Given the description of an element on the screen output the (x, y) to click on. 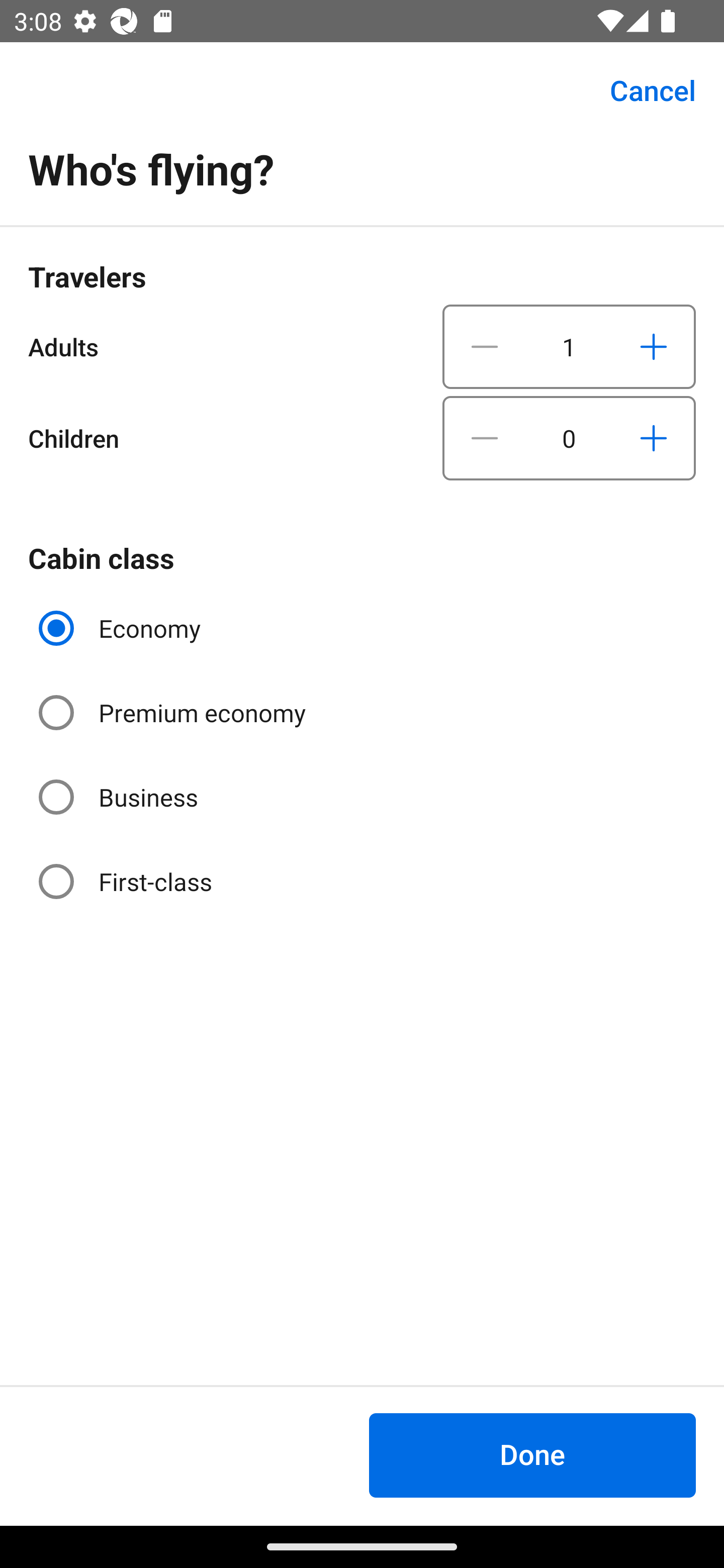
Cancel (641, 90)
Decrease (484, 346)
Increase (653, 346)
Decrease (484, 437)
Increase (653, 437)
Economy (121, 628)
Premium economy (174, 712)
Business (120, 796)
First-class (126, 880)
Done (532, 1454)
